Given the description of an element on the screen output the (x, y) to click on. 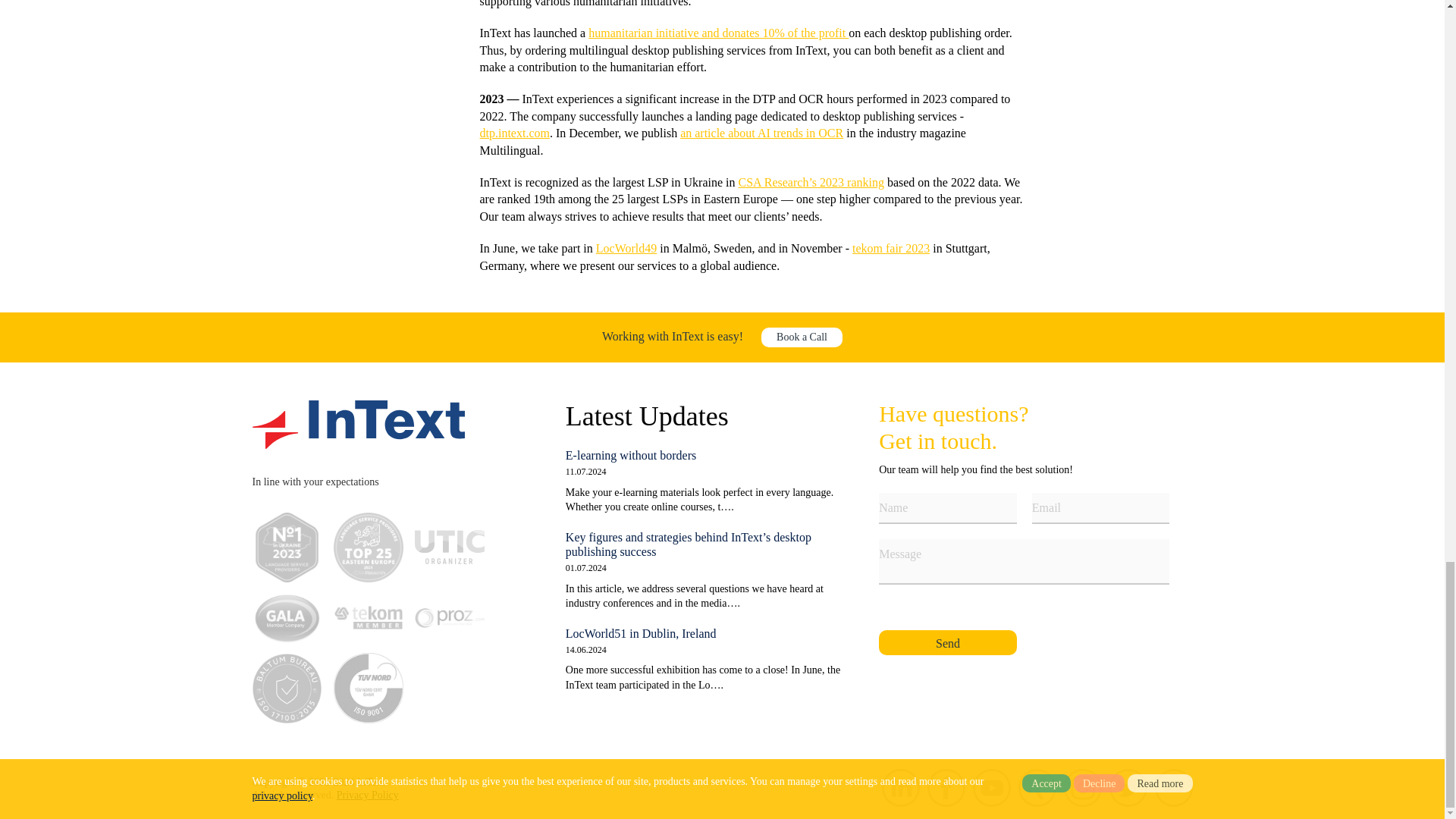
Send (947, 642)
